Given the description of an element on the screen output the (x, y) to click on. 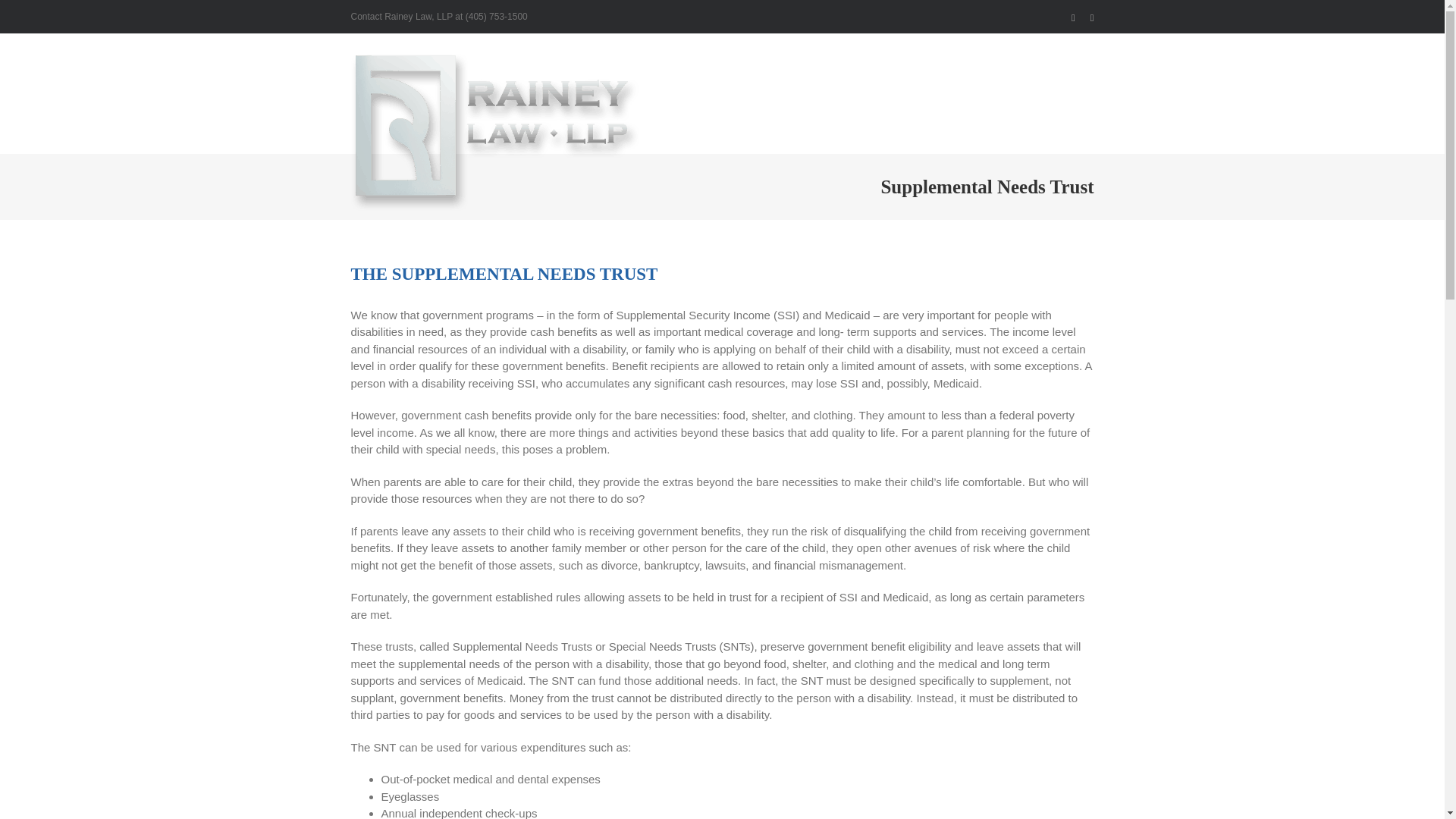
Services (781, 134)
Resources (845, 134)
Attorneys (717, 134)
Join Our Team (1058, 134)
Contact (984, 134)
Newsletters (918, 134)
